Given the description of an element on the screen output the (x, y) to click on. 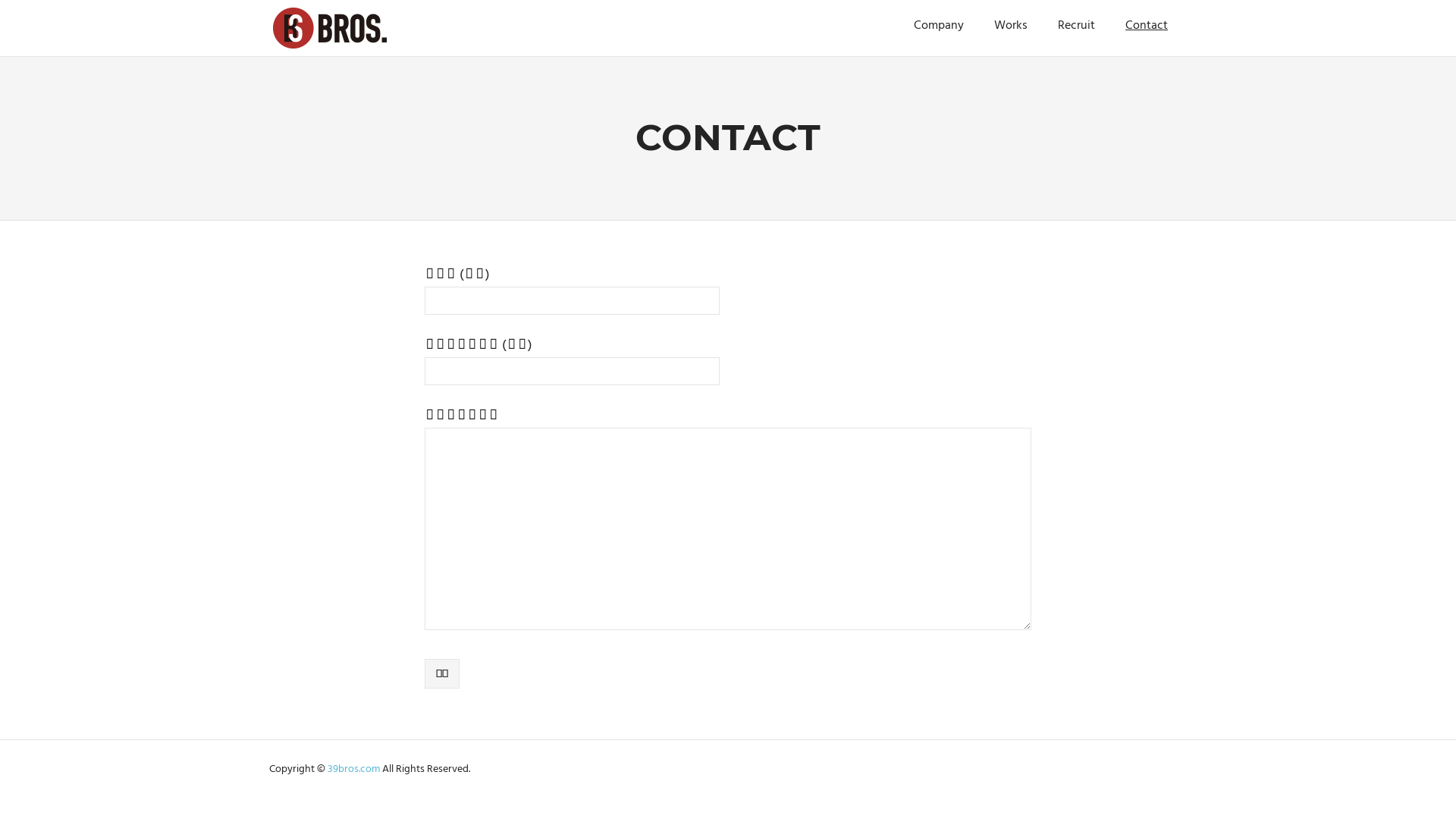
Works Element type: text (1010, 26)
Contact Element type: text (1146, 26)
Recruit Element type: text (1076, 26)
Company Element type: text (938, 26)
39bros.com Element type: text (354, 769)
